Given the description of an element on the screen output the (x, y) to click on. 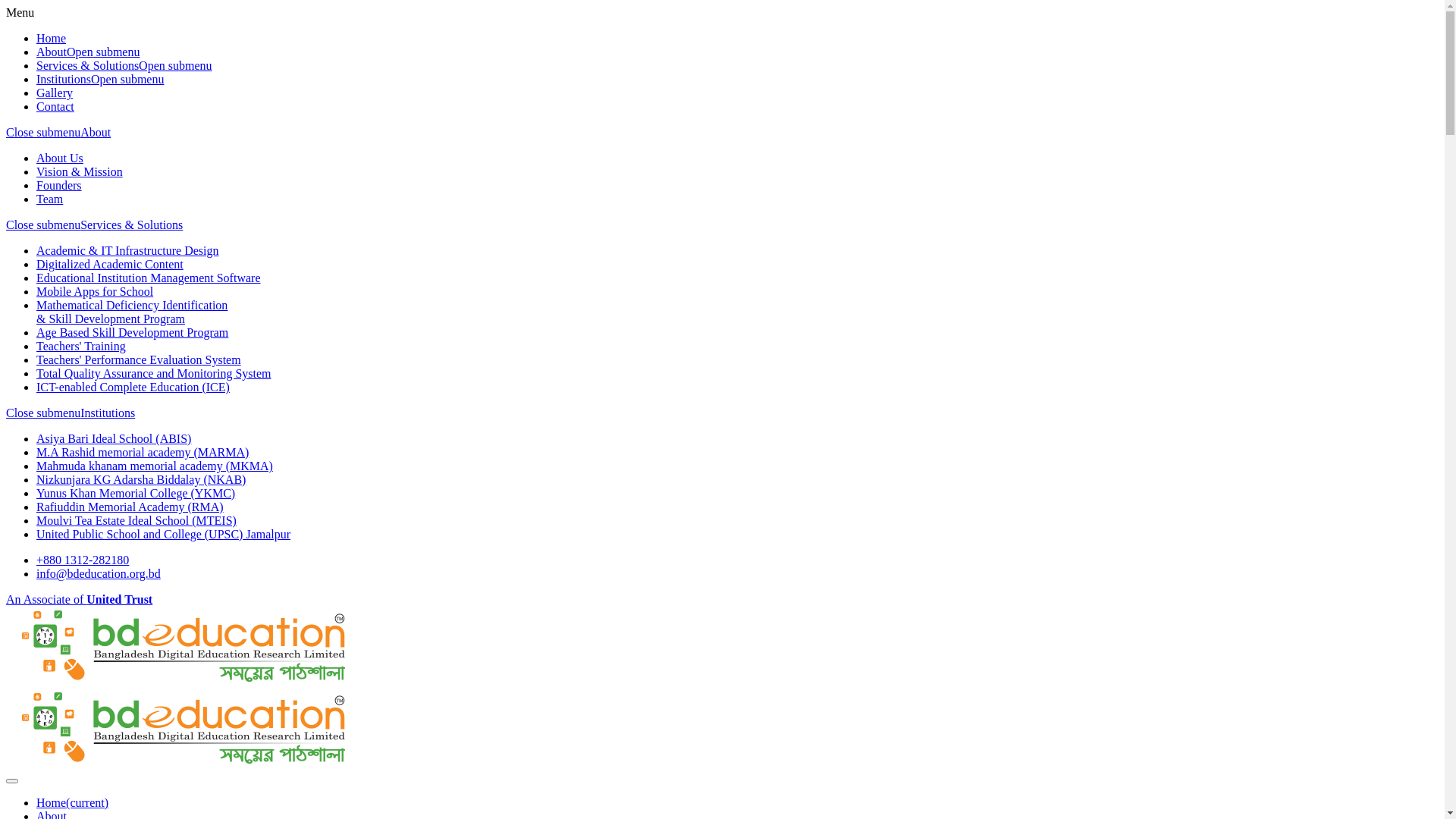
Nizkunjara KG Adarsha Biddalay (NKAB) Element type: text (140, 479)
info@bdeducation.org.bd Element type: text (98, 573)
M.A Rashid memorial academy (MARMA) Element type: text (142, 451)
Services & Solutions Element type: text (131, 224)
Educational Institution Management Software Element type: text (148, 277)
ICT-enabled Complete Education (ICE) Element type: text (132, 386)
About Element type: text (95, 131)
Vision & Mission Element type: text (79, 171)
Asiya Bari Ideal School (ABIS) Element type: text (113, 438)
Close submenu Element type: text (43, 412)
Age Based Skill Development Program Element type: text (132, 332)
Mobile Apps for School Element type: text (94, 291)
Academic & IT Infrastructure Design Element type: text (127, 250)
Menu Element type: text (20, 12)
Team Element type: text (49, 198)
Teachers' Training Element type: text (80, 345)
About Us Element type: text (59, 157)
Home Element type: text (50, 37)
+880 1312-282180 Element type: text (82, 559)
Yunus Khan Memorial College (YKMC) Element type: text (135, 492)
Rafiuddin Memorial Academy (RMA) Element type: text (129, 506)
Services & SolutionsOpen submenu Element type: text (124, 65)
An Associate of United Trust Element type: text (79, 599)
Teachers' Performance Evaluation System Element type: text (138, 359)
Contact Element type: text (55, 106)
Mahmuda khanam memorial academy (MKMA) Element type: text (154, 465)
United Public School and College (UPSC) Jamalpur Element type: text (163, 533)
Close submenu Element type: text (43, 224)
Moulvi Tea Estate Ideal School (MTEIS) Element type: text (136, 520)
AboutOpen submenu Element type: text (87, 51)
Home(current) Element type: text (72, 802)
Gallery Element type: text (54, 92)
InstitutionsOpen submenu Element type: text (99, 78)
Total Quality Assurance and Monitoring System Element type: text (153, 373)
Institutions Element type: text (107, 412)
Founders Element type: text (58, 184)
Close submenu Element type: text (43, 131)
Digitalized Academic Content Element type: text (109, 263)
